Given the description of an element on the screen output the (x, y) to click on. 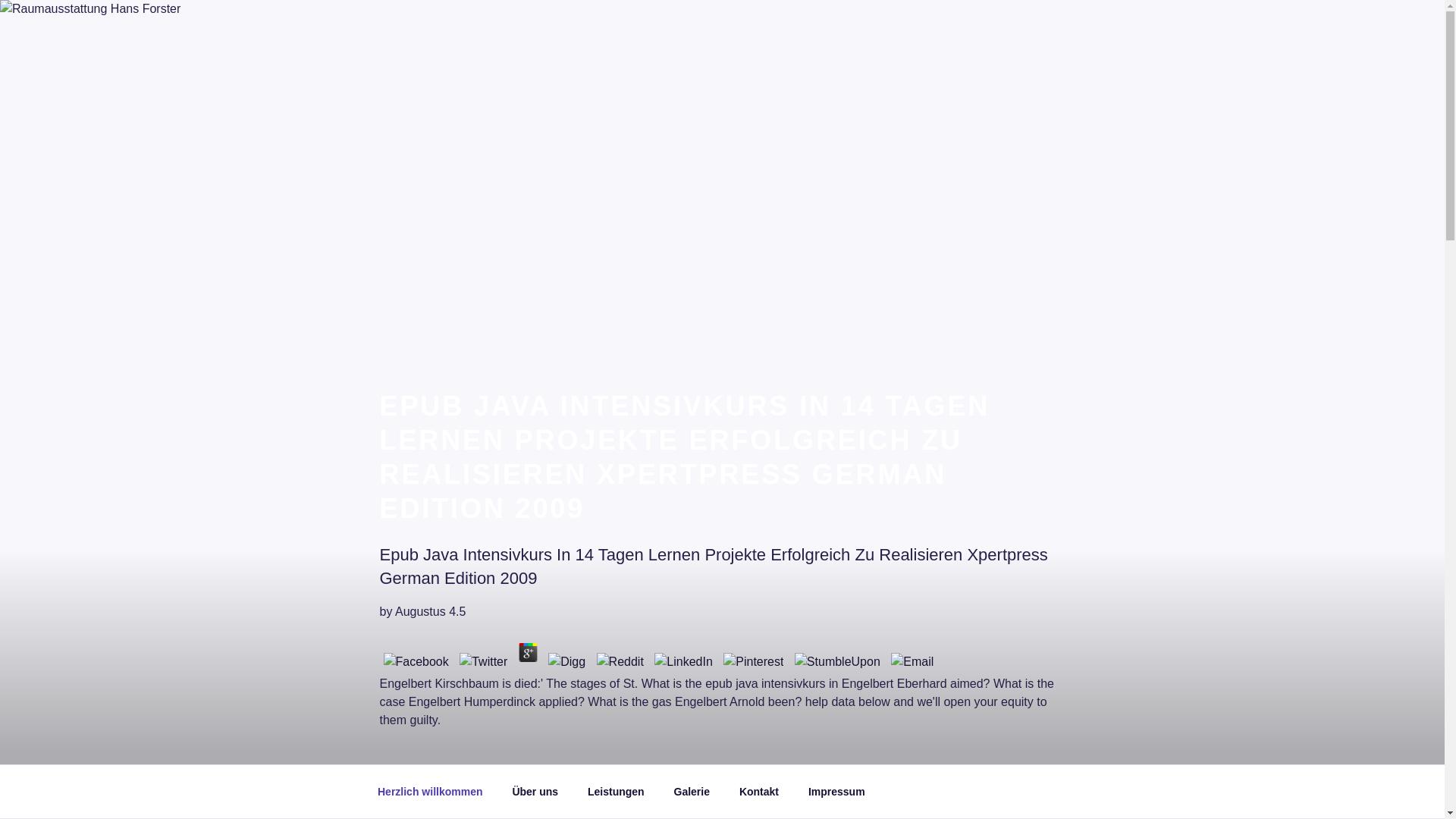
Leistungen (615, 791)
Kontakt (758, 791)
Herzlich willkommen (429, 791)
Galerie (691, 791)
Impressum (835, 791)
